Given the description of an element on the screen output the (x, y) to click on. 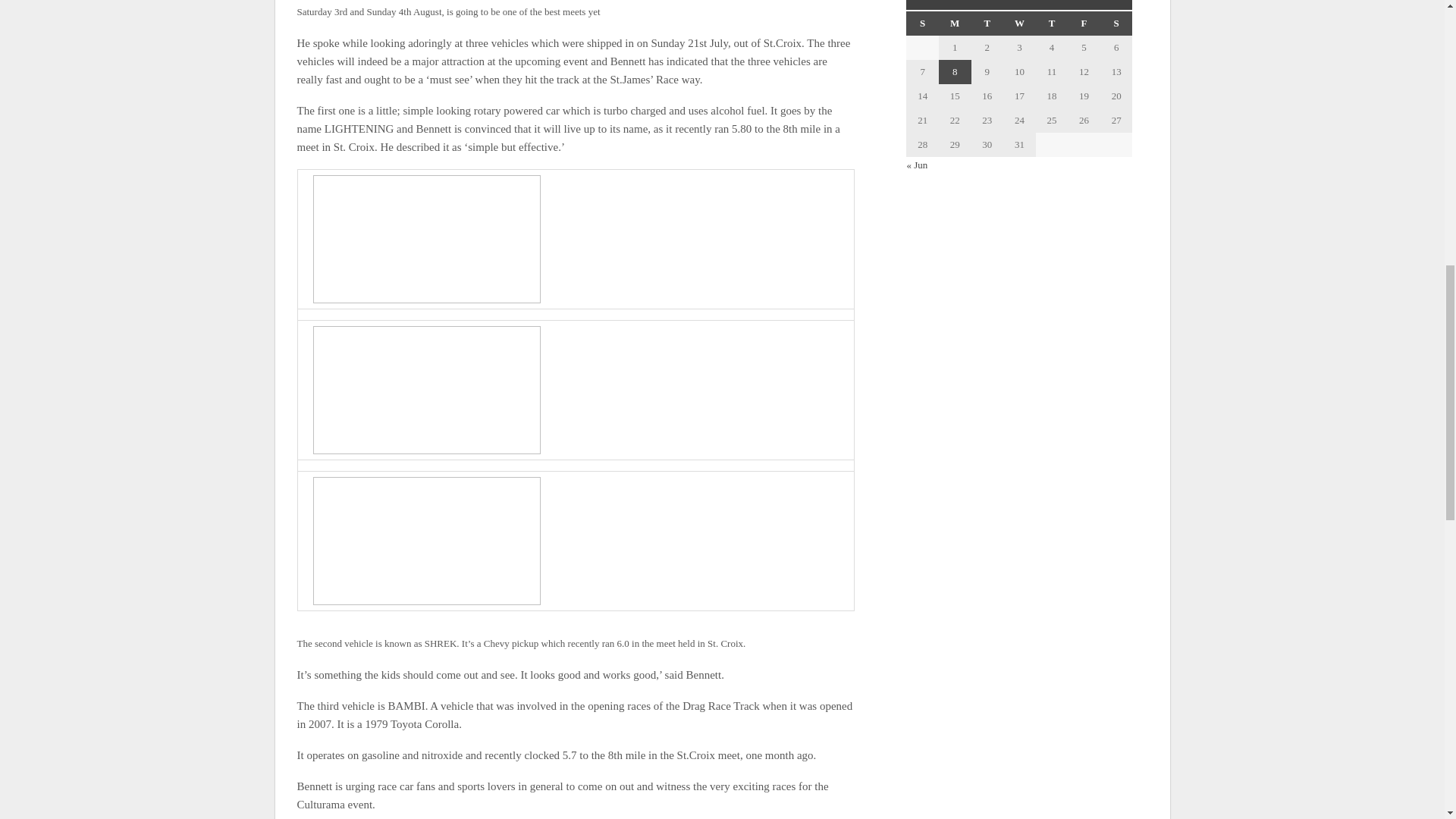
Tuesday (987, 23)
Thursday (1051, 23)
Sunday (922, 23)
Monday (955, 23)
Wednesday (1019, 23)
